Given the description of an element on the screen output the (x, y) to click on. 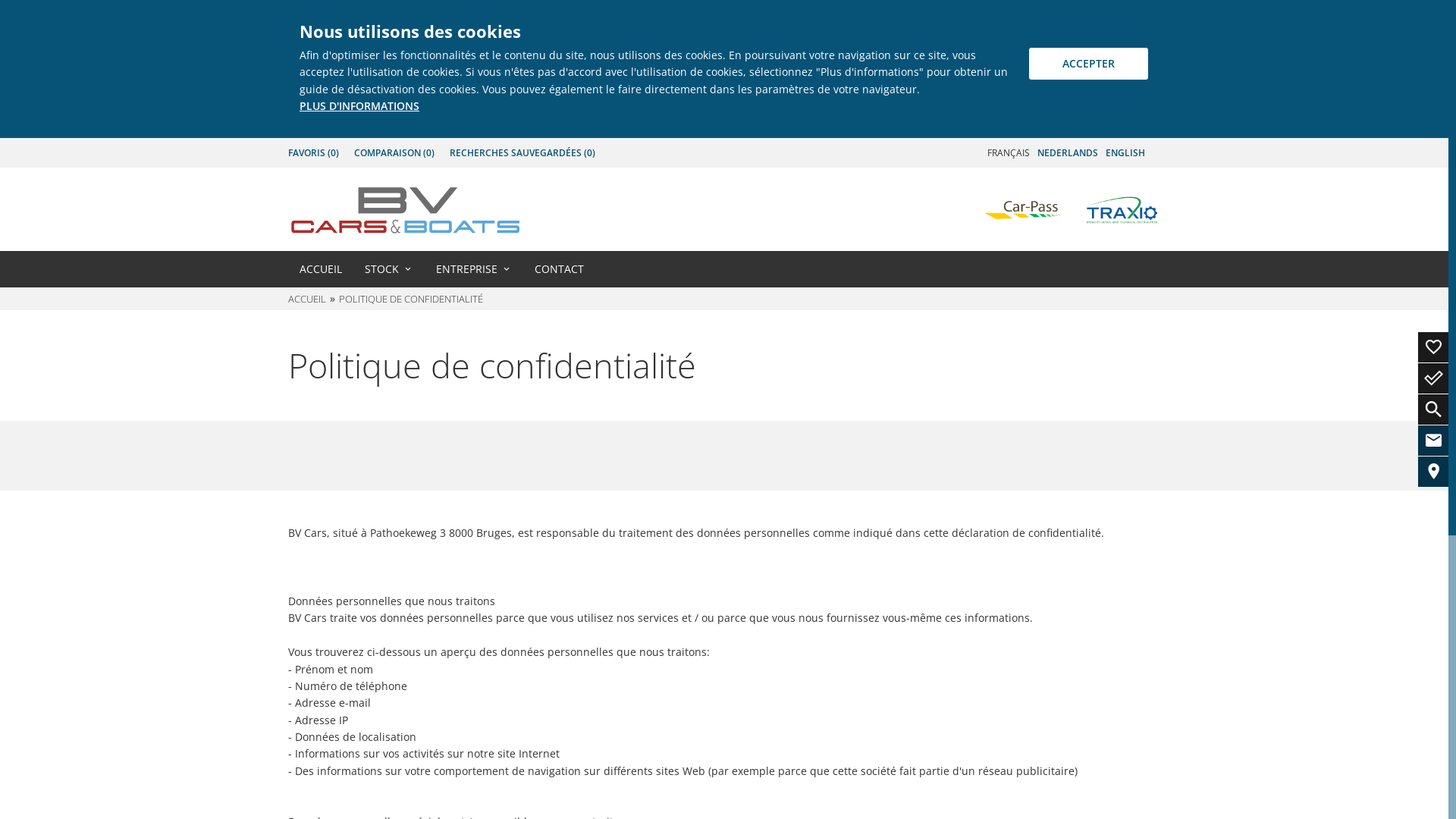
Weitere Informationen Element type: hover (406, 208)
ACCUEIL Element type: text (320, 269)
ACCEPTER Element type: text (1088, 63)
STOCK Element type: text (388, 269)
PLUS D'INFORMATIONS Element type: text (359, 105)
COMPARAISON (0) Element type: text (394, 152)
ACCUEIL Element type: text (308, 298)
ENGLISH Element type: text (1125, 152)
CONTACT Element type: text (559, 269)
NEDERLANDS Element type: text (1067, 152)
ENTREPRISE Element type: text (473, 269)
FAVORIS (0) Element type: text (313, 152)
